Given the description of an element on the screen output the (x, y) to click on. 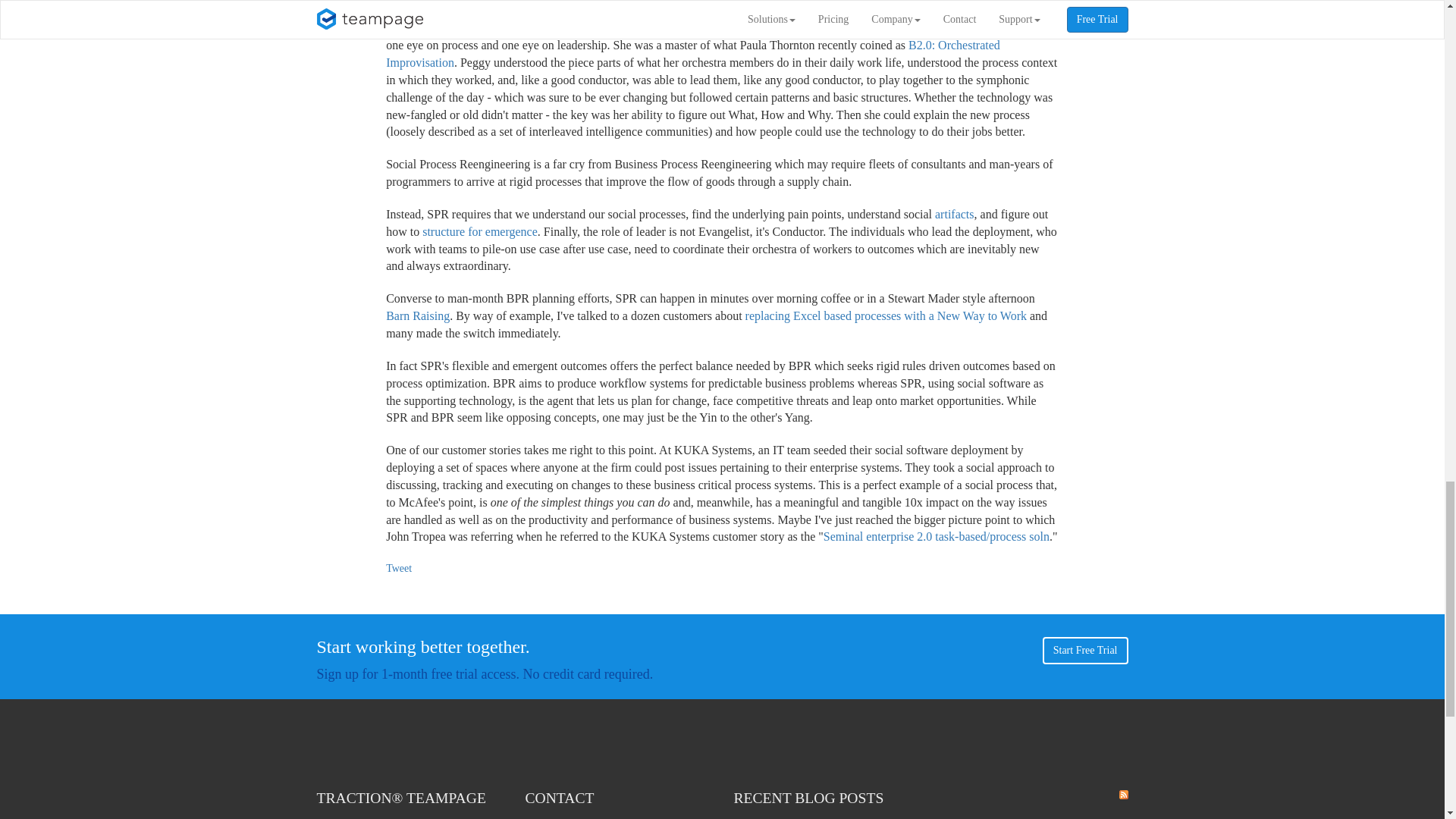
Blog RSS Feed (1123, 794)
